Given the description of an element on the screen output the (x, y) to click on. 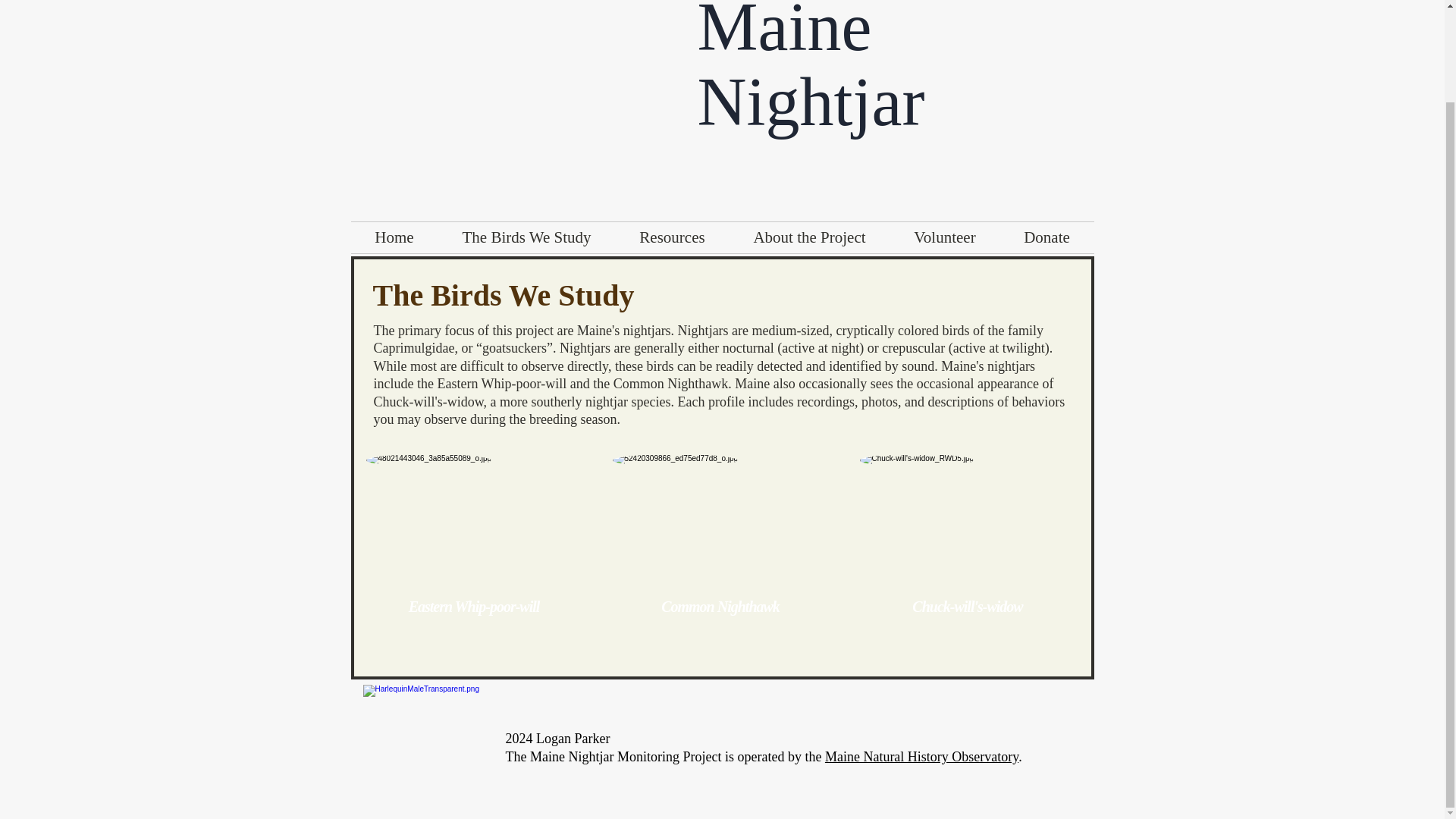
Donate (1045, 237)
Resources (672, 237)
About the Project (809, 237)
The Birds We Study (526, 237)
Home (394, 237)
Volunteer (944, 237)
Maine Natural History Observatory (921, 756)
